Given the description of an element on the screen output the (x, y) to click on. 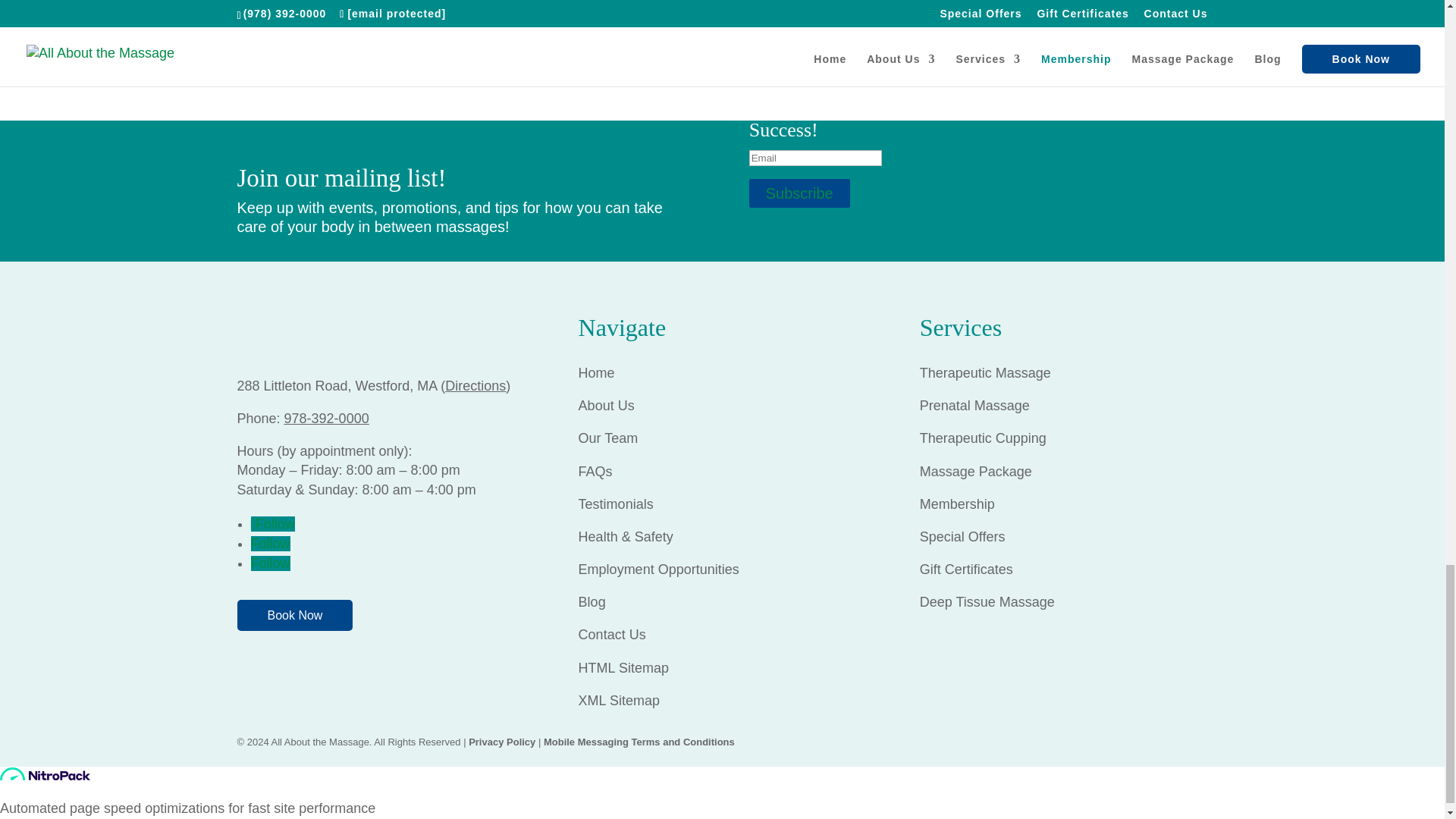
Directions (475, 385)
Home  (598, 372)
FAQs  (596, 471)
Follow on LinkedIn (269, 563)
Our Team (608, 437)
Follow on Google (269, 543)
Book Now (293, 614)
Follow on Facebook (272, 523)
Subscribe (799, 193)
Testimonials (615, 503)
